Given the description of an element on the screen output the (x, y) to click on. 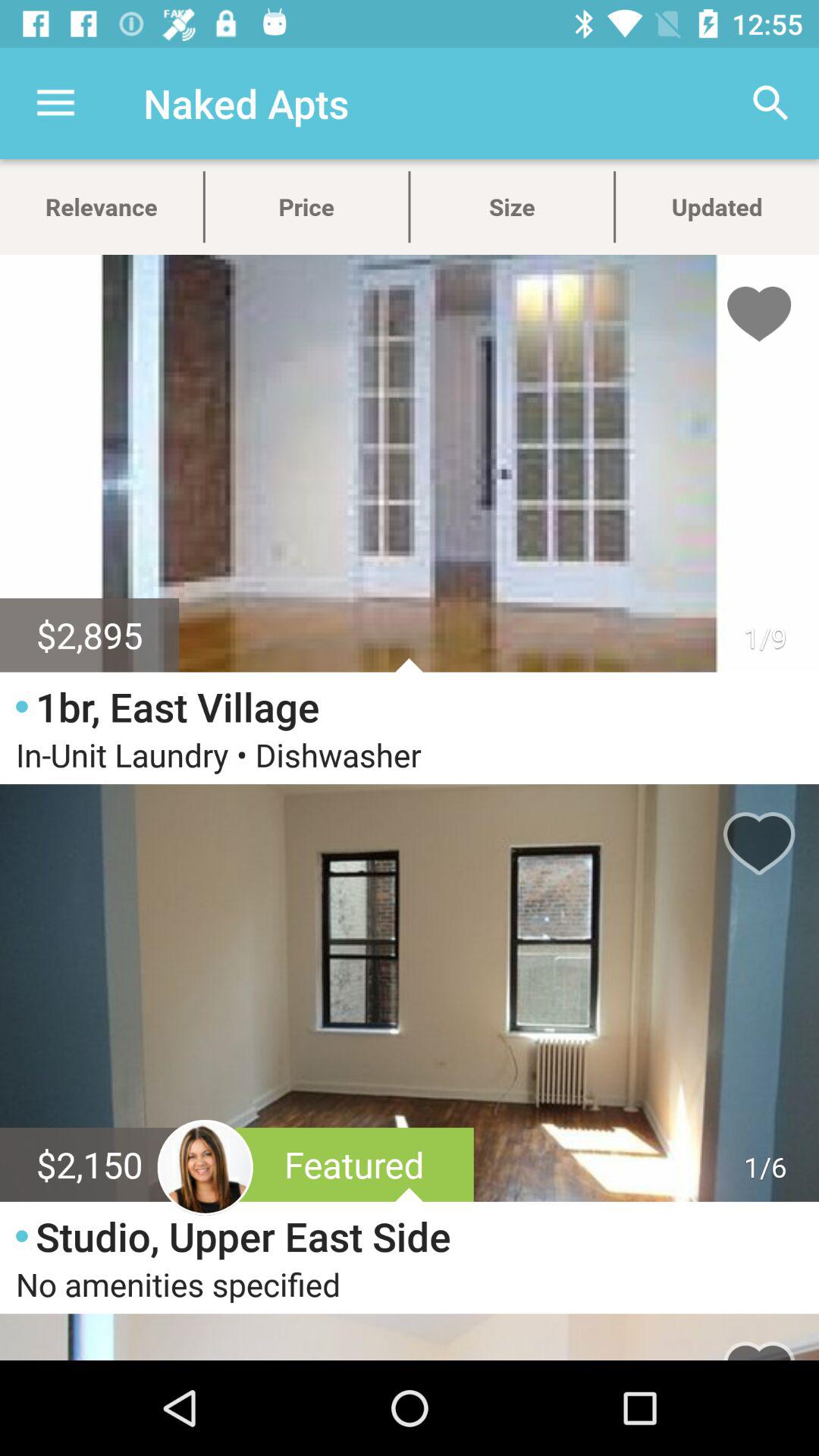
tap the relevance item (101, 206)
